Given the description of an element on the screen output the (x, y) to click on. 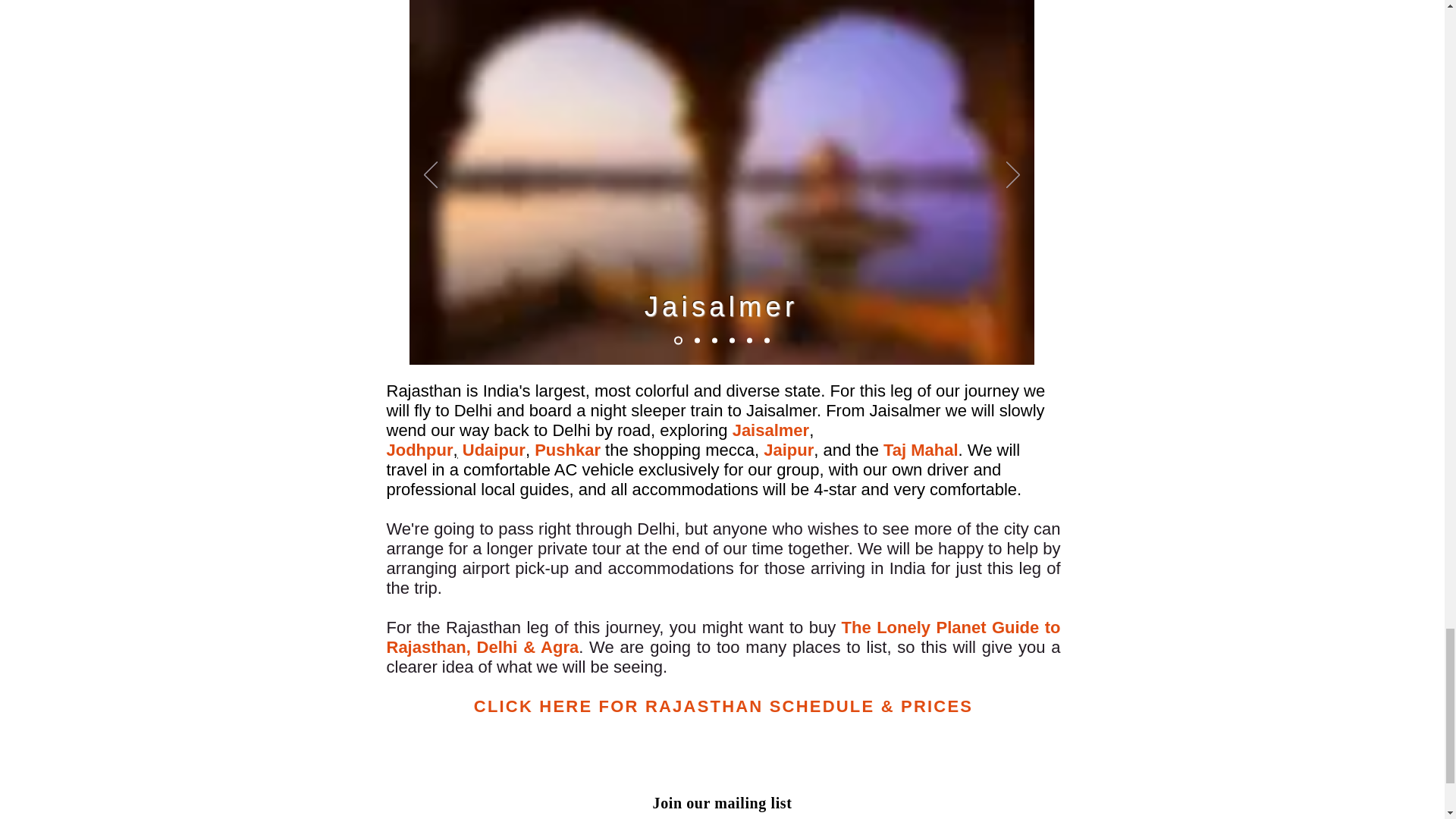
Jaipur (787, 449)
, (527, 449)
Udaipur (494, 449)
, (455, 449)
Pushkar (566, 449)
Jodhpur (419, 449)
Taj Mahal (920, 449)
Jaisalmer (770, 429)
